Given the description of an element on the screen output the (x, y) to click on. 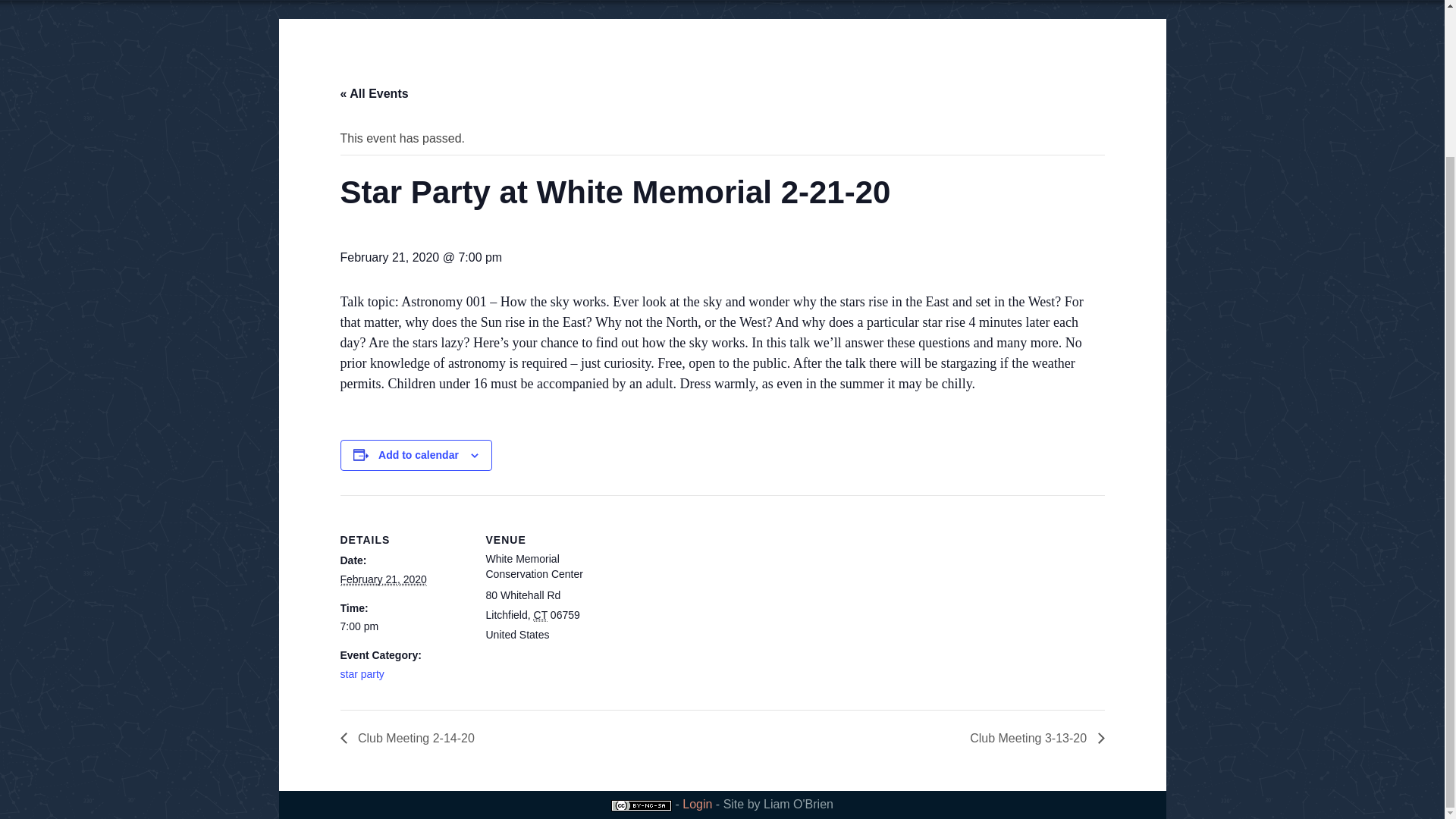
Login (696, 803)
Login (696, 803)
Club Meeting 3-13-20 (1031, 738)
star party (361, 674)
2020-02-21 (382, 579)
2020-02-21 (403, 626)
Connecticut (540, 615)
Club Meeting 2-14-20 (410, 738)
Add to calendar (418, 454)
